Given the description of an element on the screen output the (x, y) to click on. 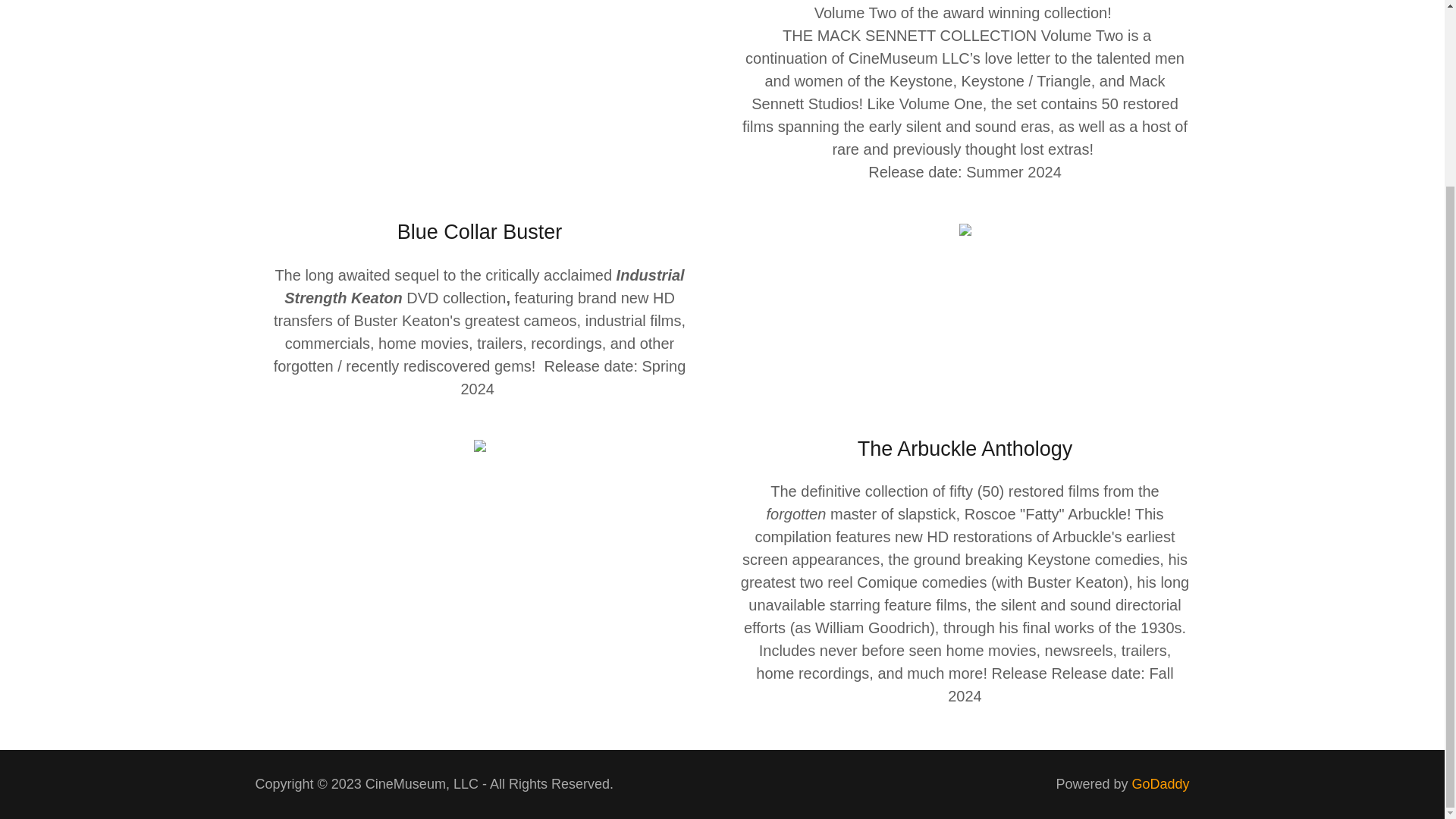
GoDaddy (1160, 783)
